Given the description of an element on the screen output the (x, y) to click on. 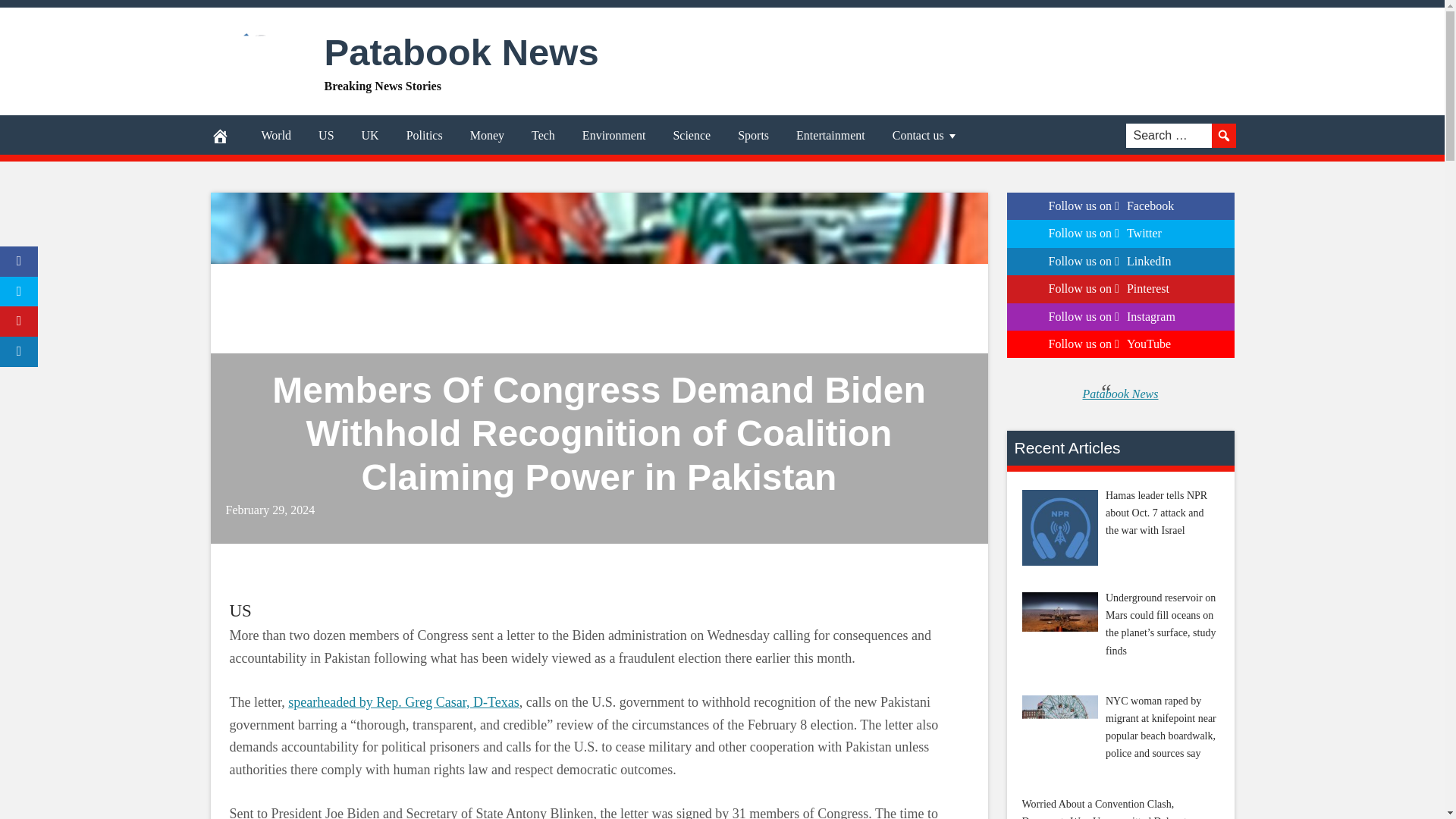
Science (691, 135)
Money (487, 135)
Politics (425, 135)
World (275, 135)
UK (370, 135)
Environment (614, 135)
Tech (543, 135)
Patabook News (461, 51)
Sports (753, 135)
US (325, 135)
